Given the description of an element on the screen output the (x, y) to click on. 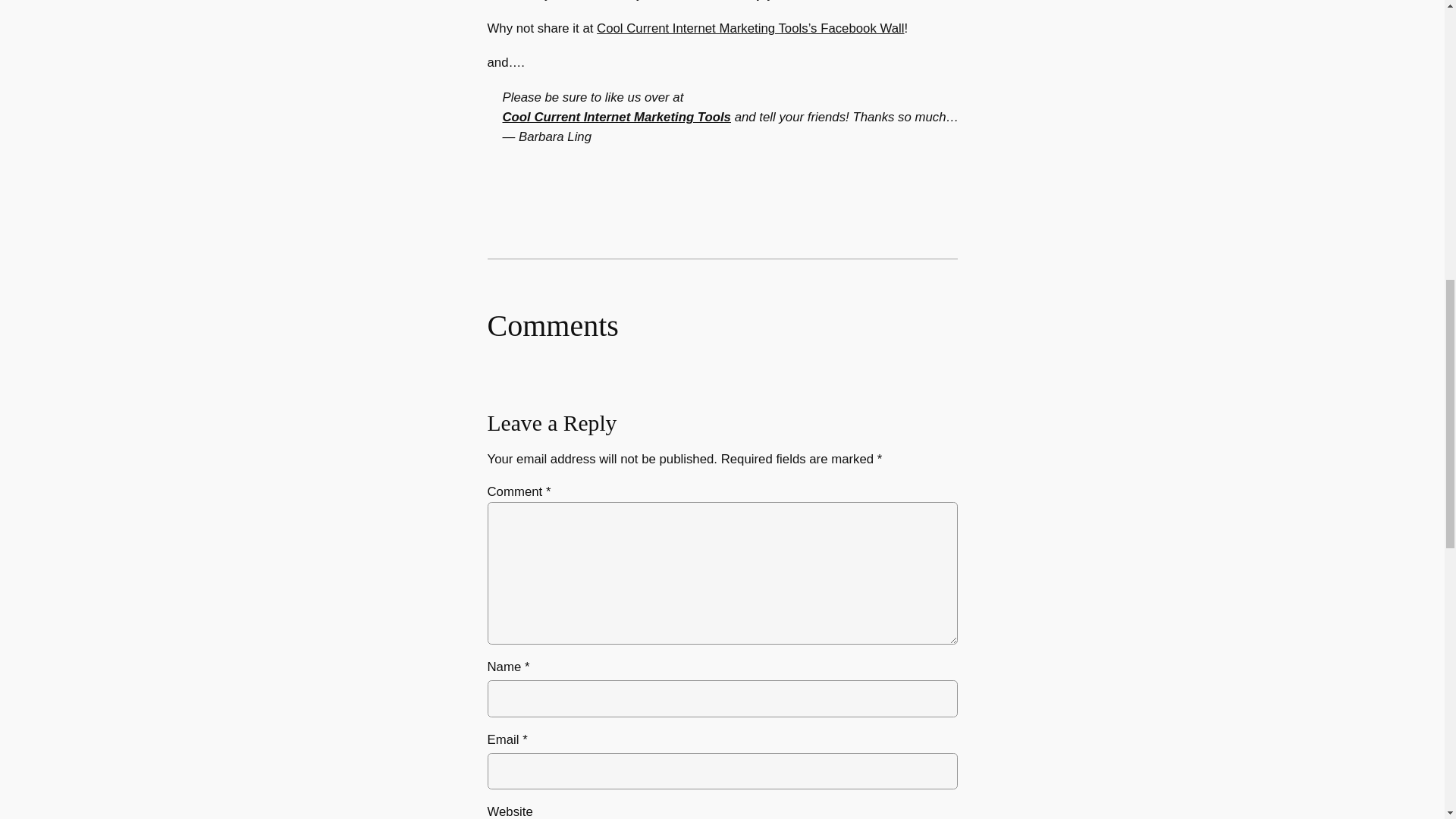
Cool Current Internet Marketing Tools (616, 116)
